Given the description of an element on the screen output the (x, y) to click on. 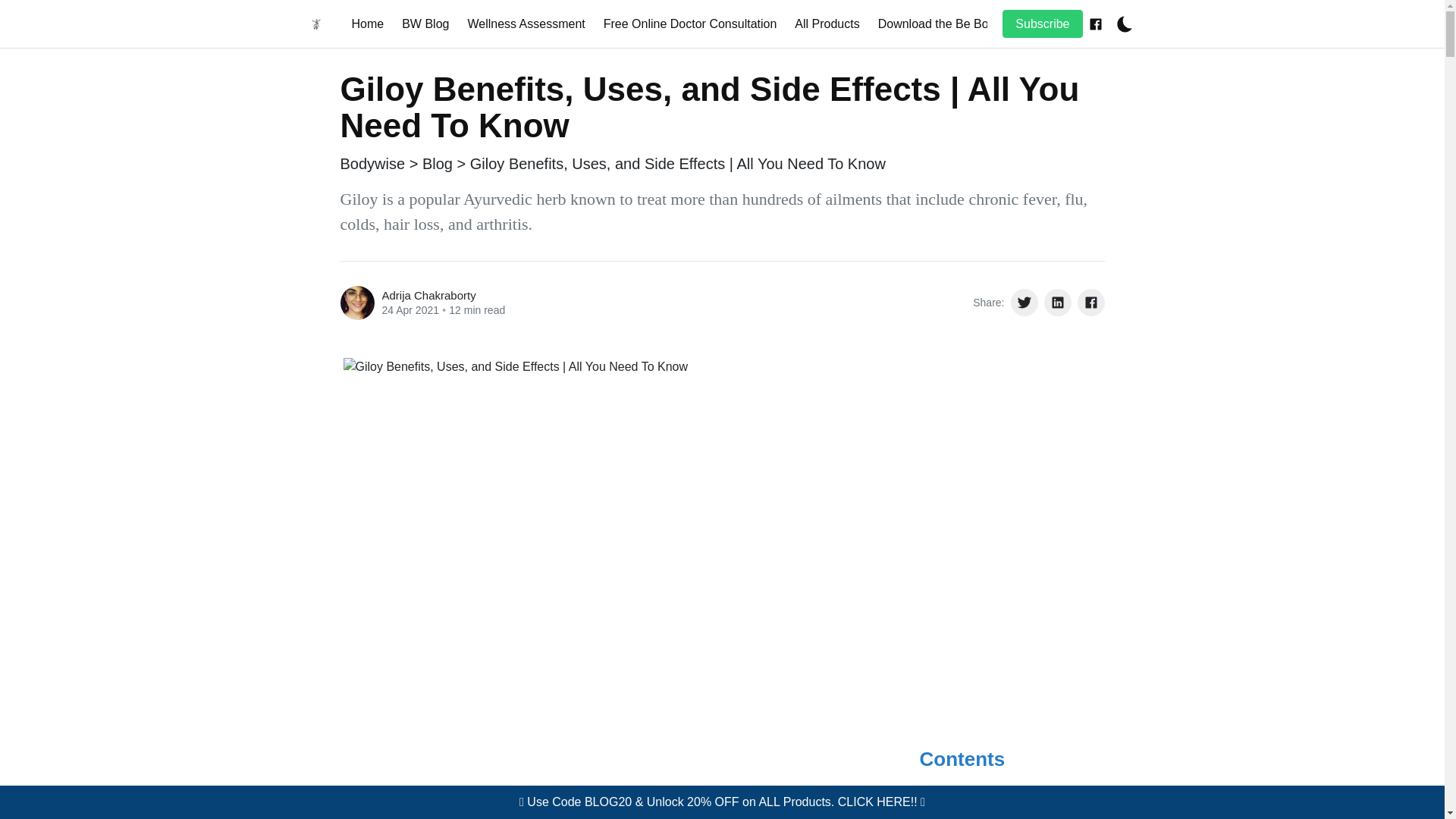
All Products (826, 22)
Bodywise (371, 163)
Blog (437, 163)
Download the Be Bodywise App (964, 22)
BW Blog (425, 22)
Wellness Assessment (526, 22)
Go to the profile of Adrija Chakraborty (356, 302)
Free Online Doctor Consultation (690, 22)
Adrija Chakraborty (428, 295)
12 min read (476, 309)
